Given the description of an element on the screen output the (x, y) to click on. 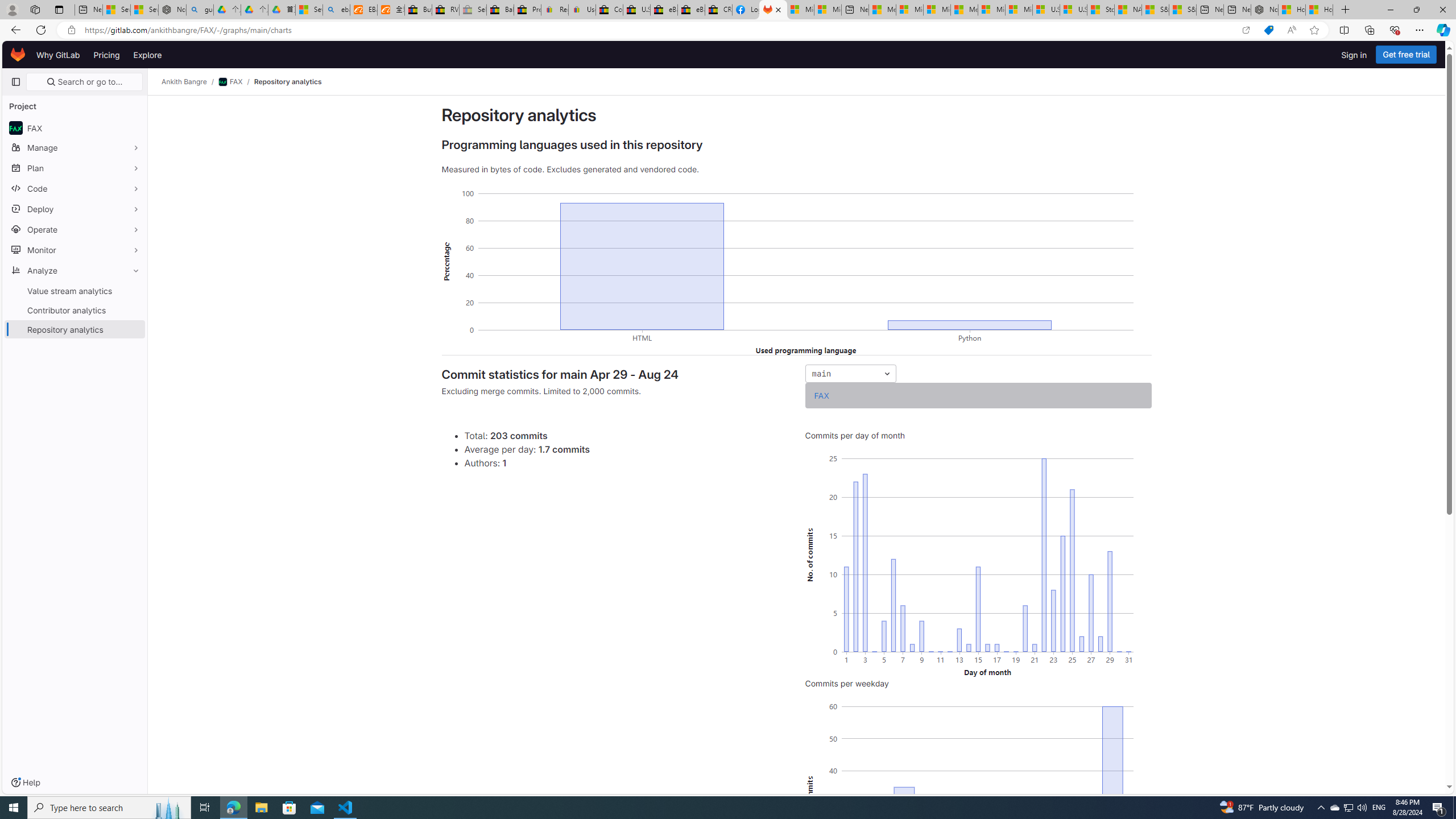
Ankith Bangre/ (189, 81)
FAX/ (236, 81)
Plan (74, 167)
Press Room - eBay Inc. (527, 9)
Open in app (1245, 29)
Value stream analytics (74, 290)
Get free trial (1406, 54)
Register: Create a personal eBay account (554, 9)
Total: 203 commits (625, 435)
Get free trial (1406, 54)
